Given the description of an element on the screen output the (x, y) to click on. 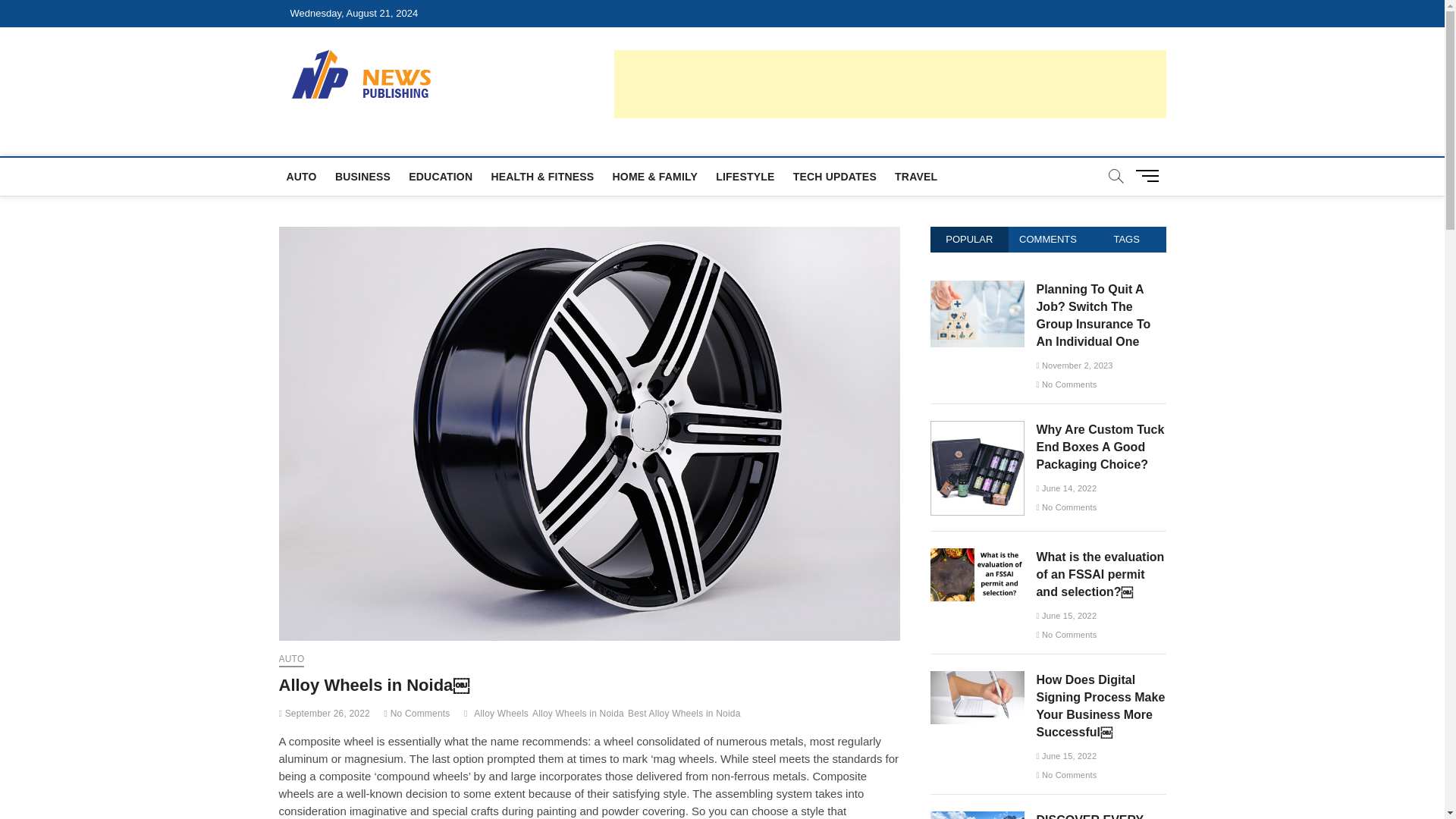
POPULAR (969, 239)
News Publishing (540, 78)
No Comments (1065, 384)
BUSINESS (362, 176)
June 14, 2022 (1065, 488)
AUTO (301, 176)
COMMENTS (1048, 239)
TRAVEL (915, 176)
News Publishing (540, 78)
